Given the description of an element on the screen output the (x, y) to click on. 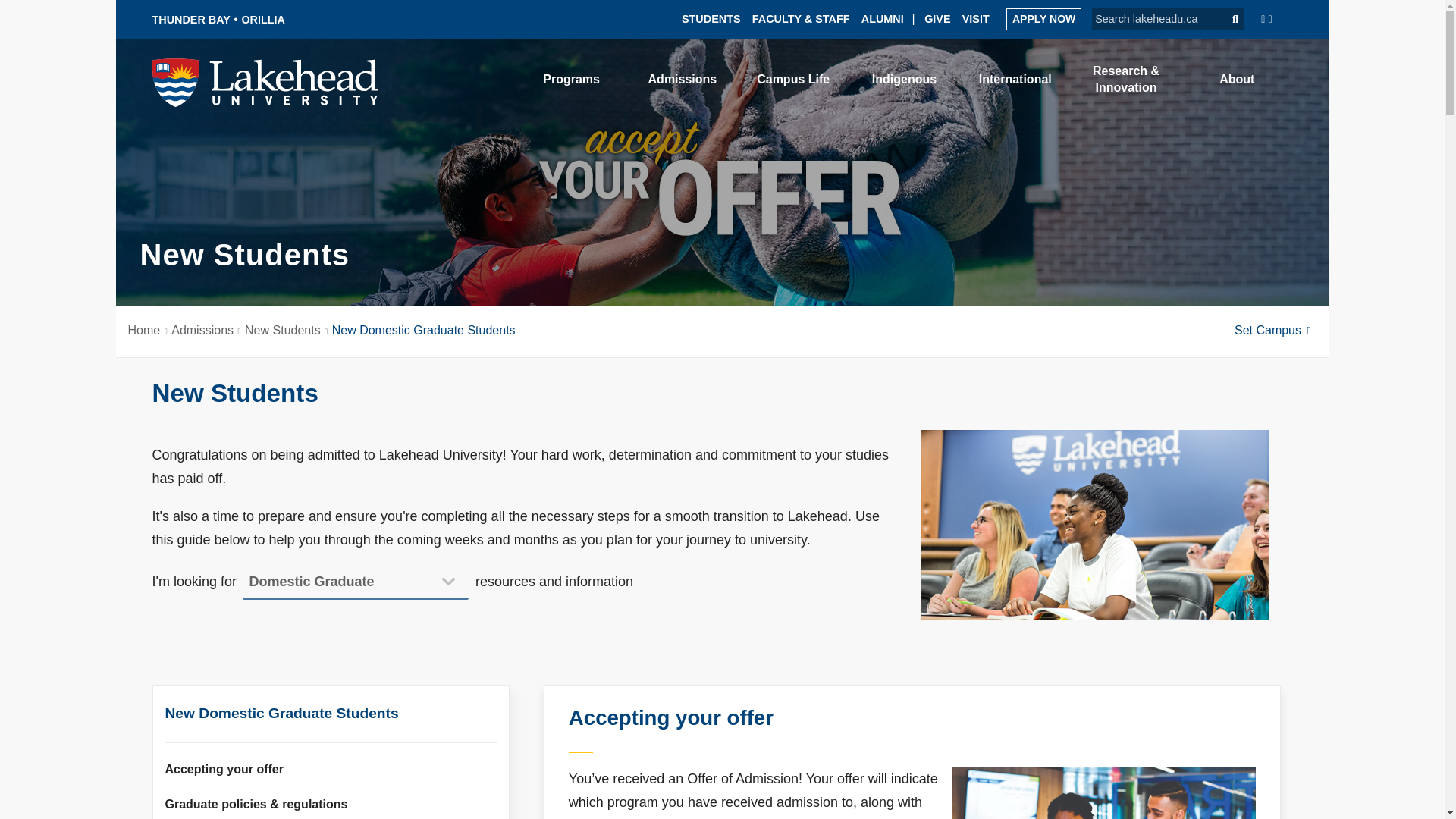
APPLY NOW (1043, 19)
STUDENTS (711, 18)
GIVE (937, 18)
Admissions (681, 79)
Application Guide (1043, 19)
VISIT (976, 18)
Programs (571, 79)
ALUMNI (882, 18)
Change Campus Preference (1275, 329)
Enter the terms you wish to search for. (1152, 18)
Support Lakehead University, make a Donation (937, 18)
ORILLIA (263, 19)
MYSUCCESS (1042, 82)
Log in to myCourseLink (1140, 80)
